Given the description of an element on the screen output the (x, y) to click on. 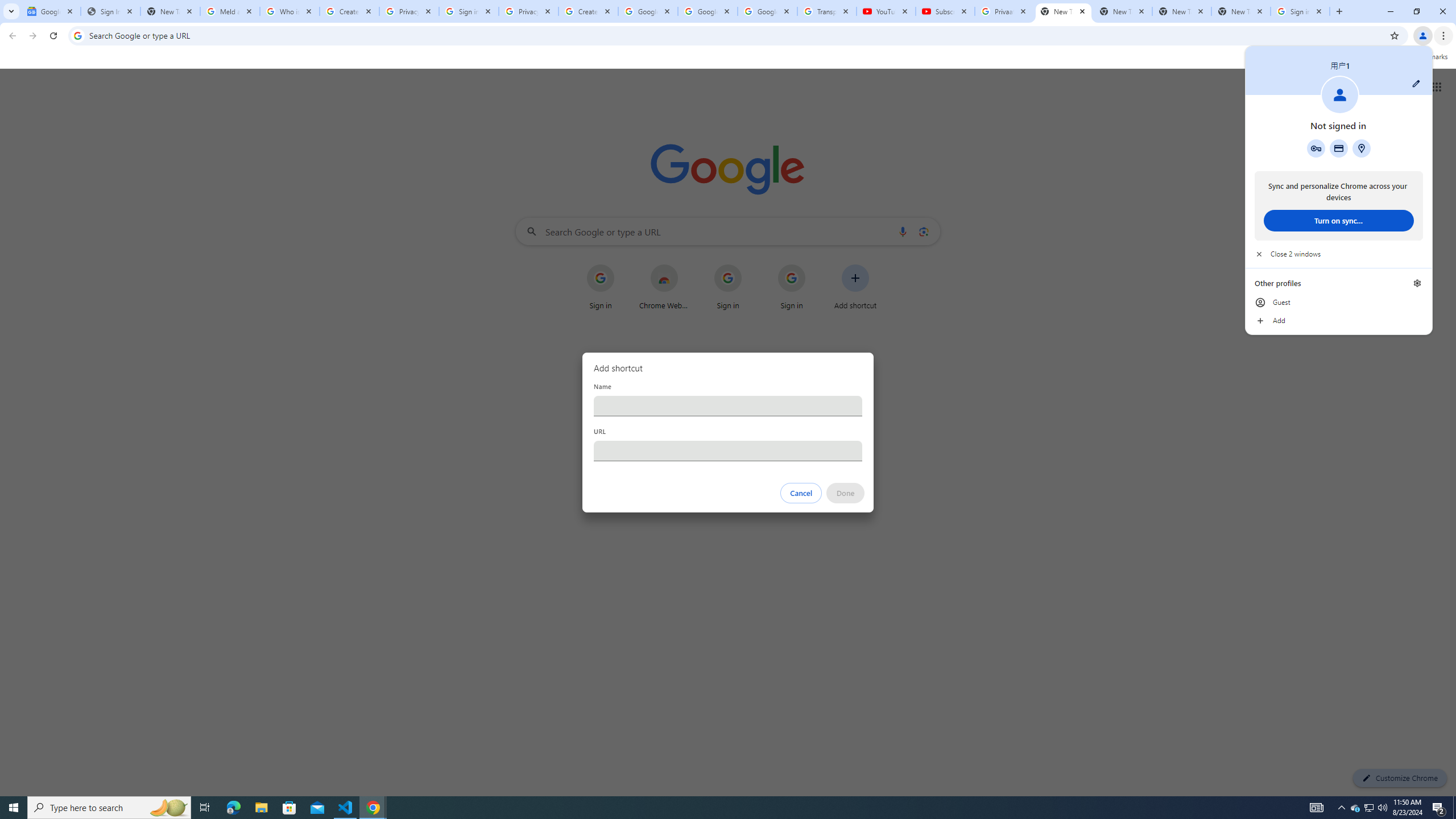
Search highlights icon opens search home window (167, 807)
AutomationID: 4105 (1316, 807)
Microsoft Edge (233, 807)
